Given the description of an element on the screen output the (x, y) to click on. 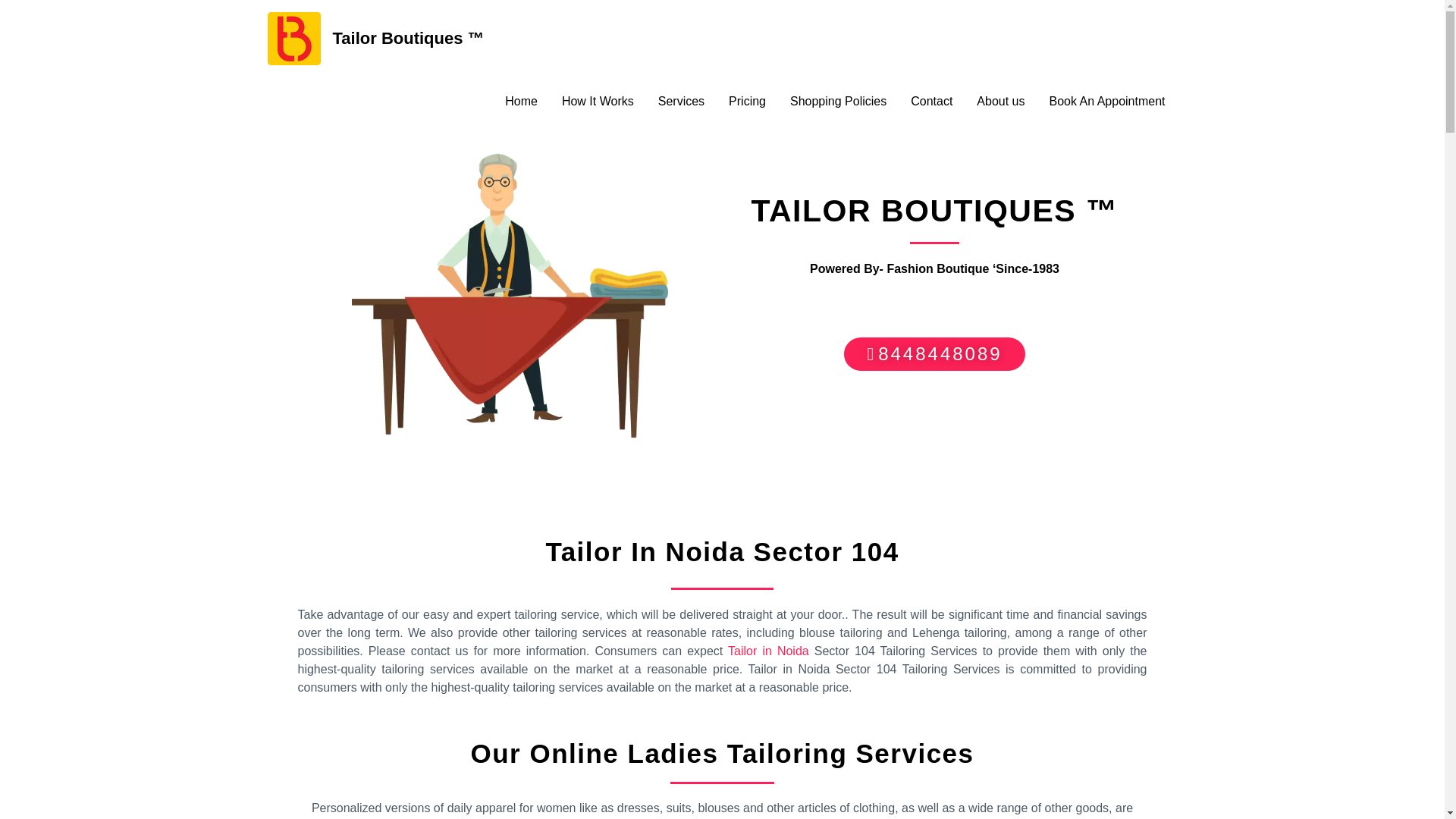
Home (521, 101)
Contact (930, 101)
Book An Appointment (1106, 101)
About us (999, 101)
Tailor in Noida (768, 650)
Services (681, 101)
8448448089 (934, 354)
Tailor in Noida (768, 650)
How It Works (598, 101)
Shopping Policies (837, 101)
Pricing (746, 101)
